Given the description of an element on the screen output the (x, y) to click on. 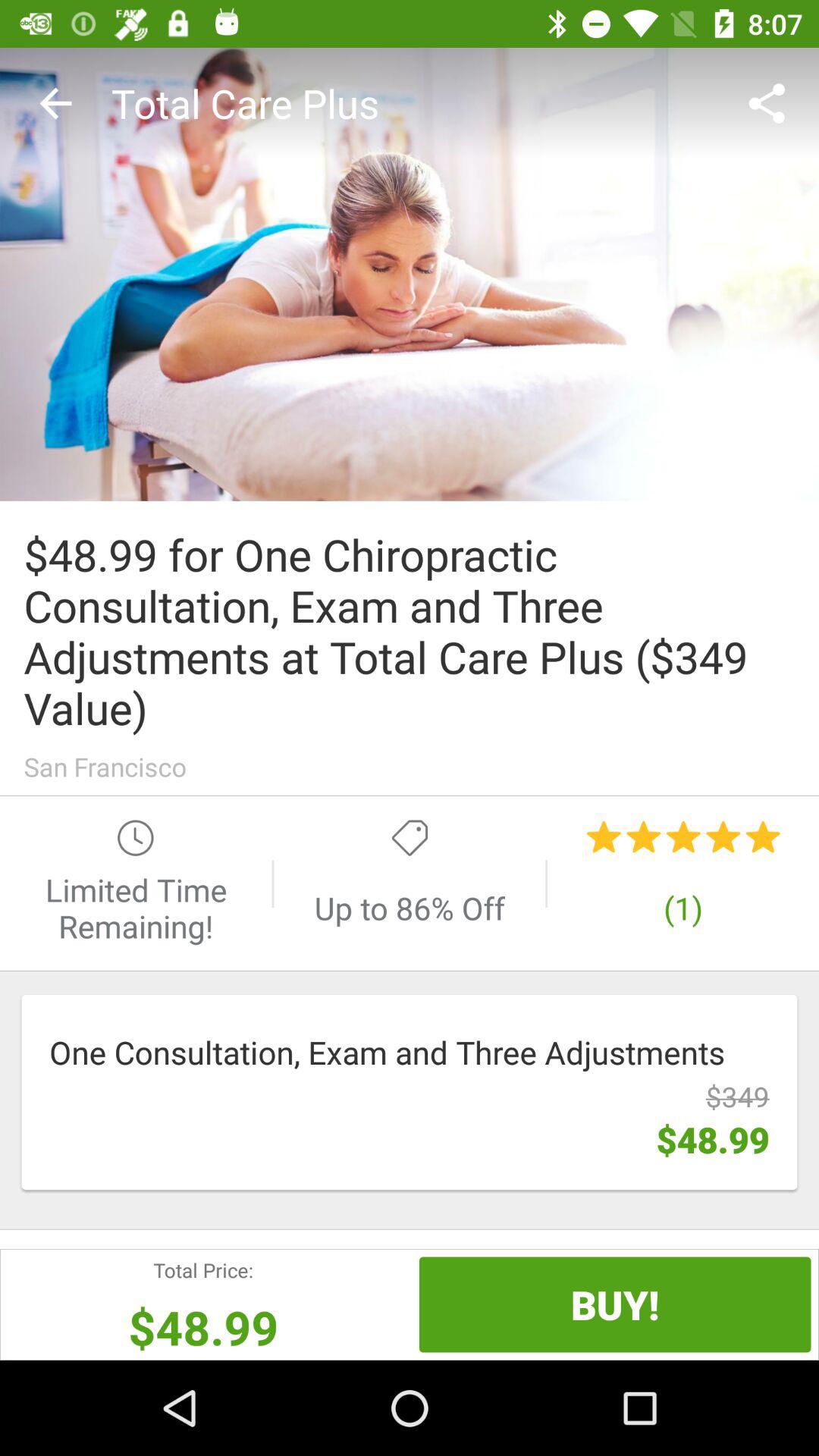
open the item at the top left corner (55, 103)
